Given the description of an element on the screen output the (x, y) to click on. 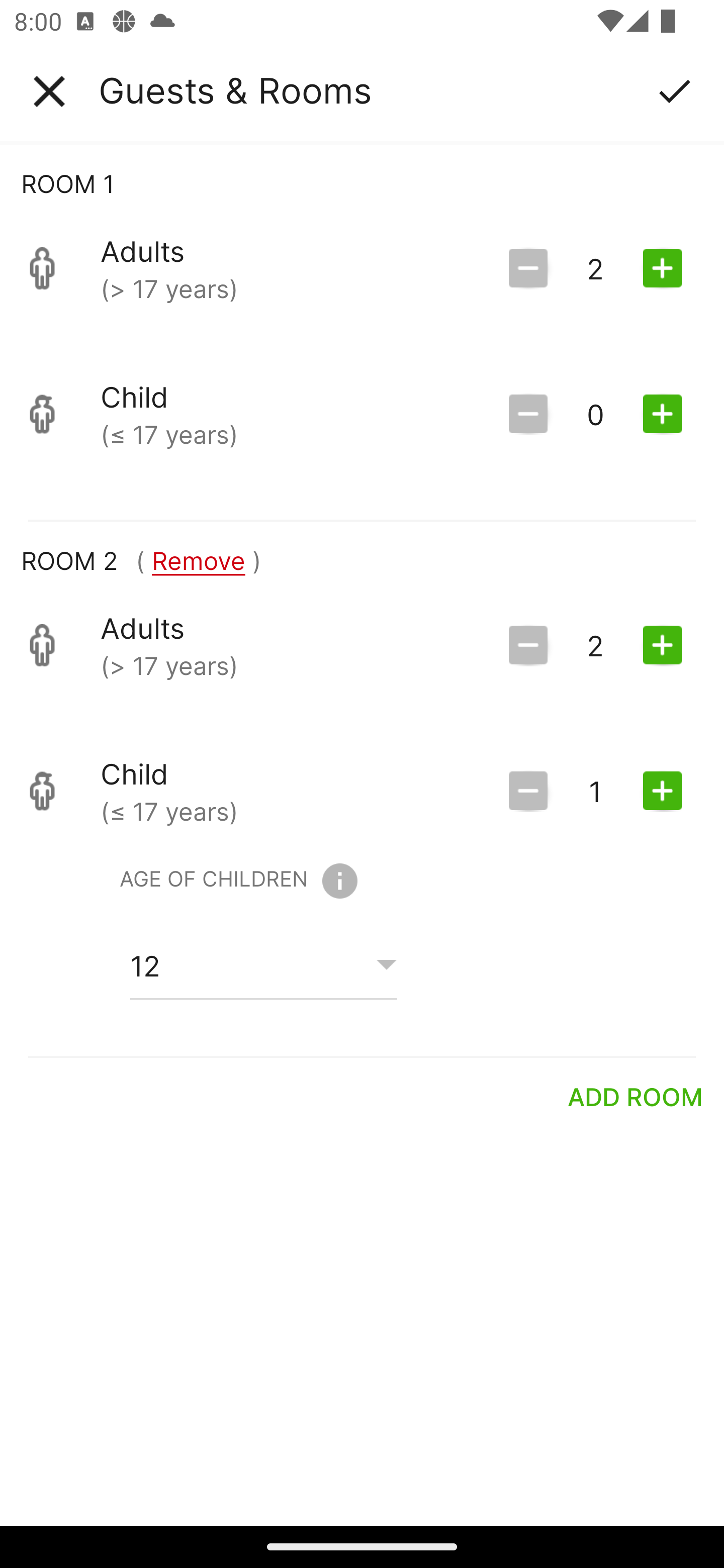
( Remove ) (198, 560)
AGE OF CHILDREN (238, 880)
12 (263, 964)
ADD ROOM (635, 1096)
